Given the description of an element on the screen output the (x, y) to click on. 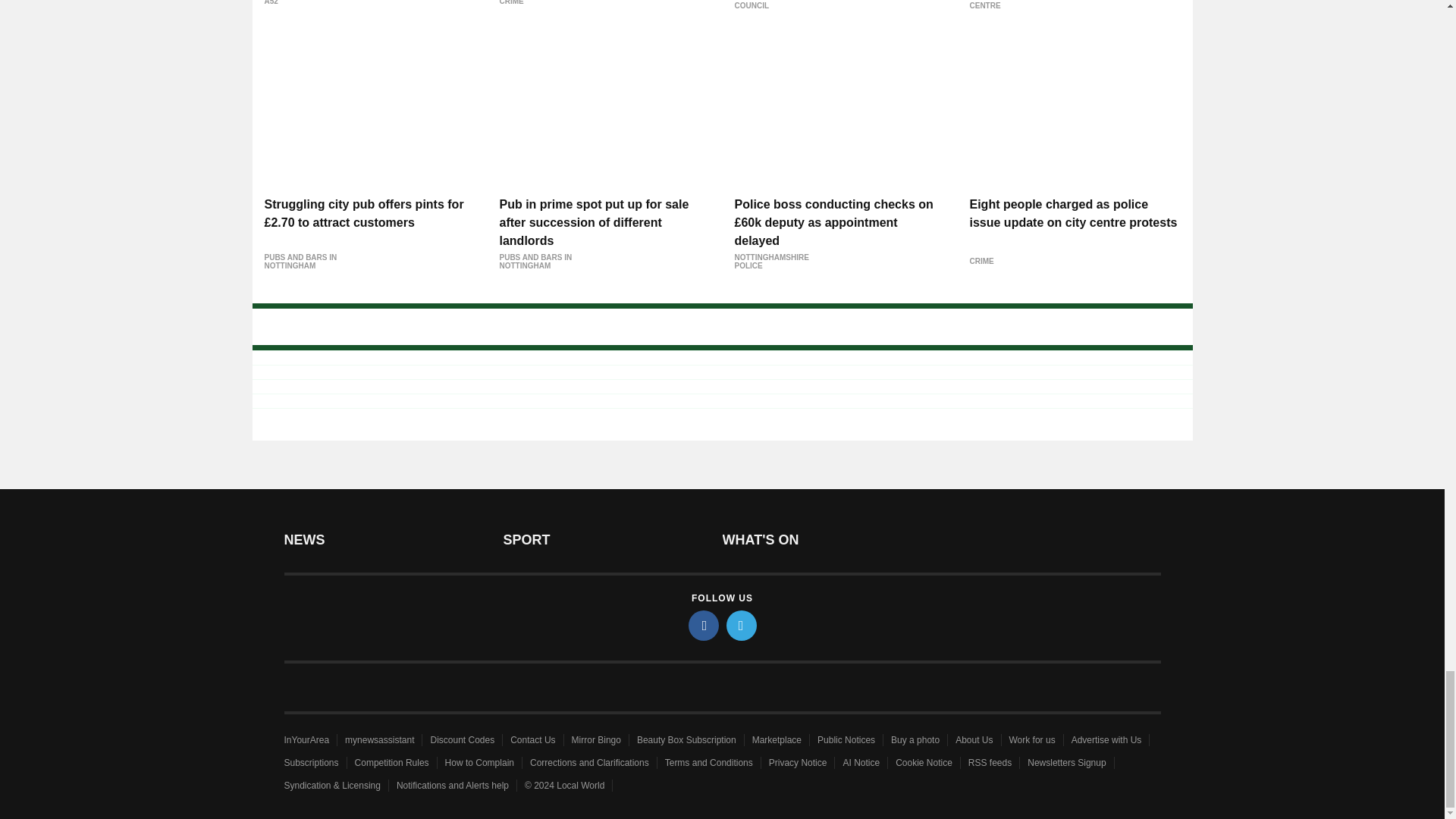
facebook (703, 625)
twitter (741, 625)
